Given the description of an element on the screen output the (x, y) to click on. 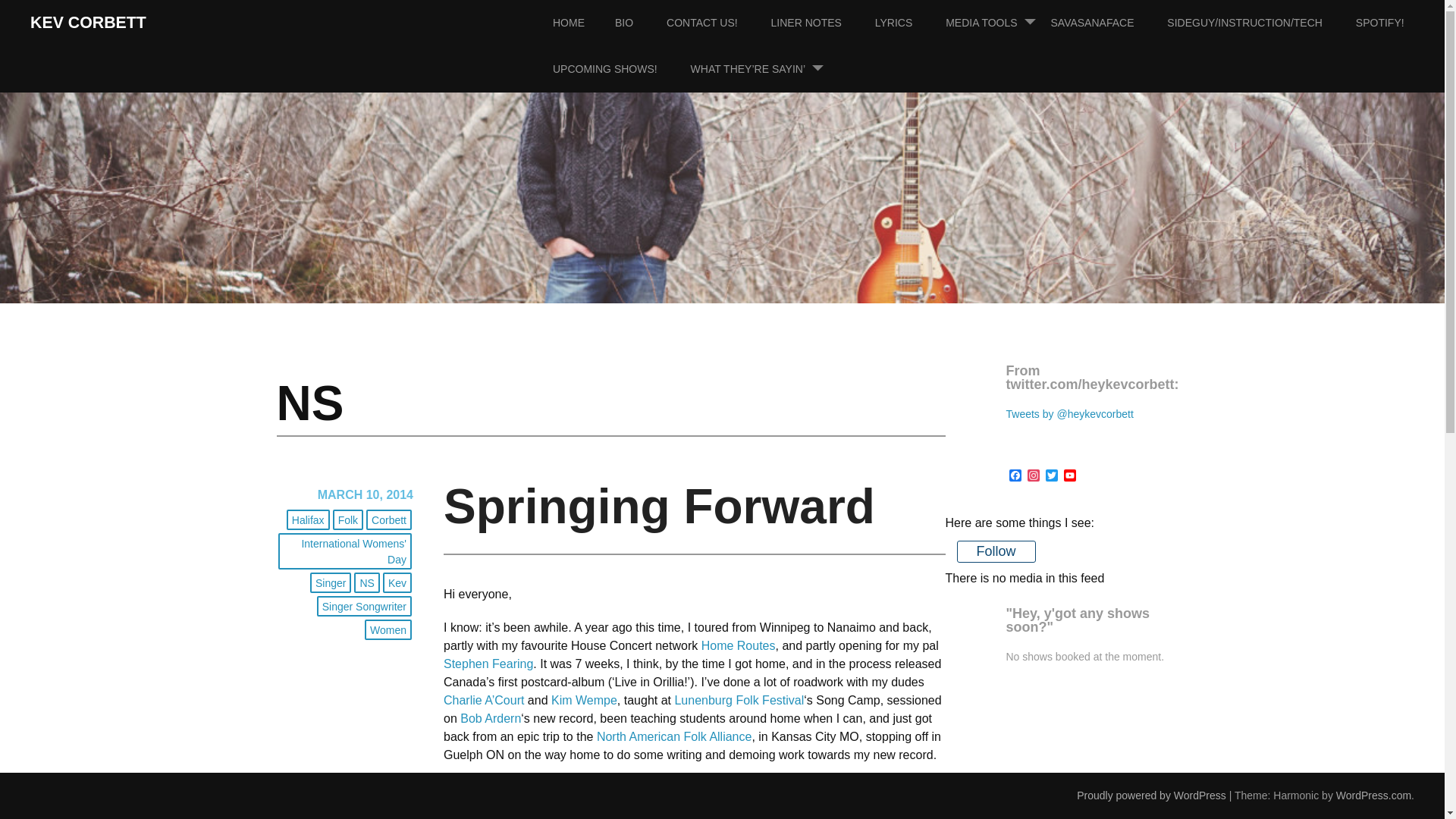
UPCOMING SHOWS! (620, 68)
KEV CORBETT (88, 22)
Bob Ardern (490, 717)
CONTACT US! (717, 22)
HOME (583, 22)
Facebook (1014, 476)
MEDIA TOOLS (995, 22)
Charlie A'Court (484, 699)
MARCH 10, 2014 (365, 494)
North American Folk Alliance (674, 736)
Home Routes (738, 645)
SPOTIFY! (1394, 22)
BIO (638, 22)
LYRICS (909, 22)
LINER NOTES (821, 22)
